Given the description of an element on the screen output the (x, y) to click on. 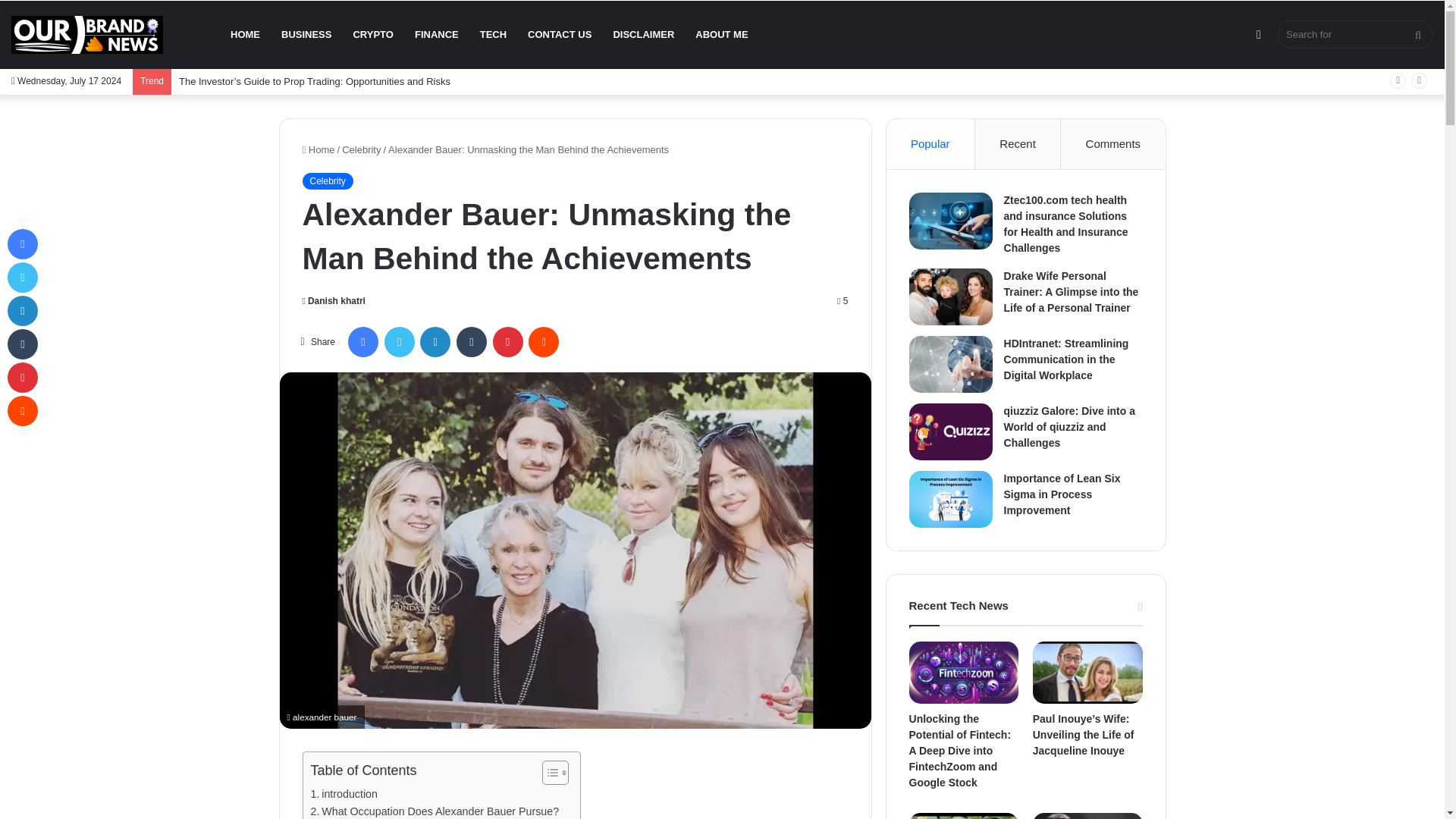
Pinterest (507, 341)
Search for (1355, 34)
BUSINESS (306, 34)
ABOUT ME (721, 34)
Reddit (543, 341)
LinkedIn (434, 341)
ourbrandnews.com (87, 34)
What Occupation Does Alexander Bauer Pursue? (435, 811)
CONTACT US (559, 34)
Home (317, 149)
DISCLAIMER (643, 34)
introduction  (345, 794)
Celebrity (361, 149)
Tumblr (471, 341)
